Given the description of an element on the screen output the (x, y) to click on. 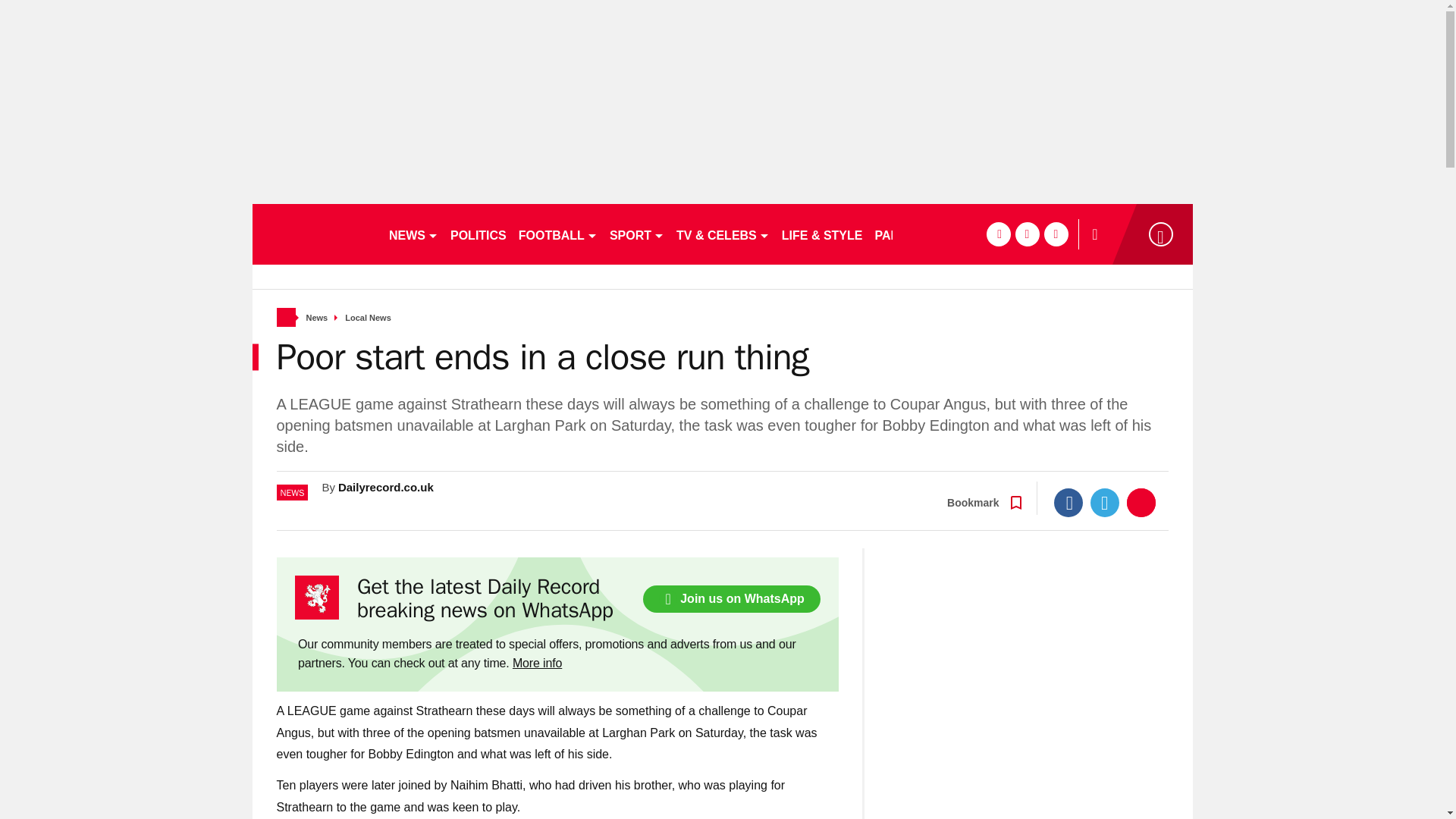
Twitter (1104, 502)
twitter (1026, 233)
dailyrecord (313, 233)
POLITICS (478, 233)
instagram (1055, 233)
NEWS (413, 233)
Facebook (1068, 502)
facebook (997, 233)
FOOTBALL (558, 233)
SPORT (636, 233)
